Given the description of an element on the screen output the (x, y) to click on. 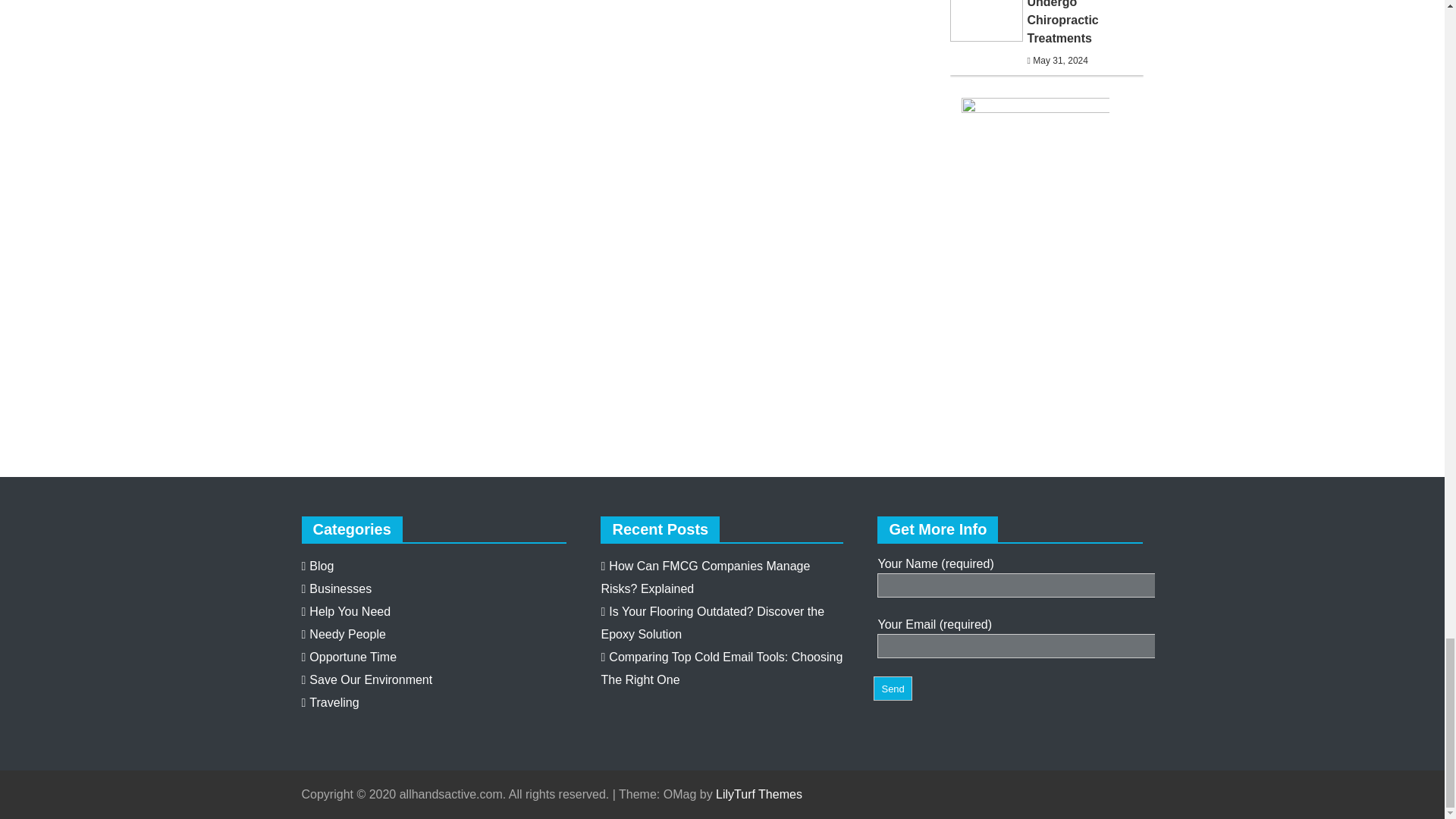
Send (892, 687)
